Given the description of an element on the screen output the (x, y) to click on. 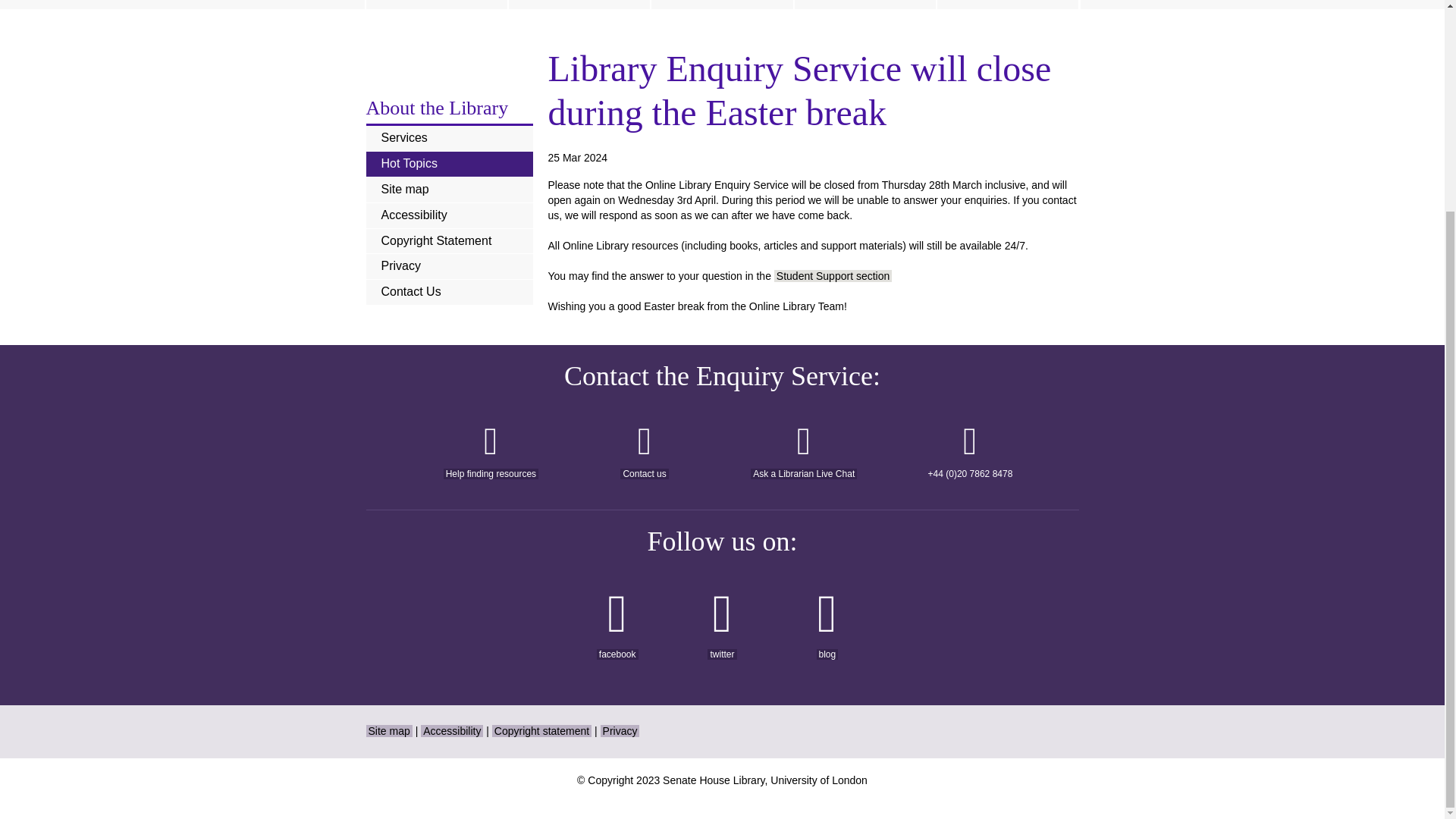
Services (448, 138)
Student Support section (832, 275)
Accessibility (448, 215)
Copyright statement (541, 730)
Privacy (619, 730)
Contact Us (448, 292)
About the Library (436, 107)
Find Resources (865, 4)
Site map (388, 730)
Copyright Statement (448, 241)
